Given the description of an element on the screen output the (x, y) to click on. 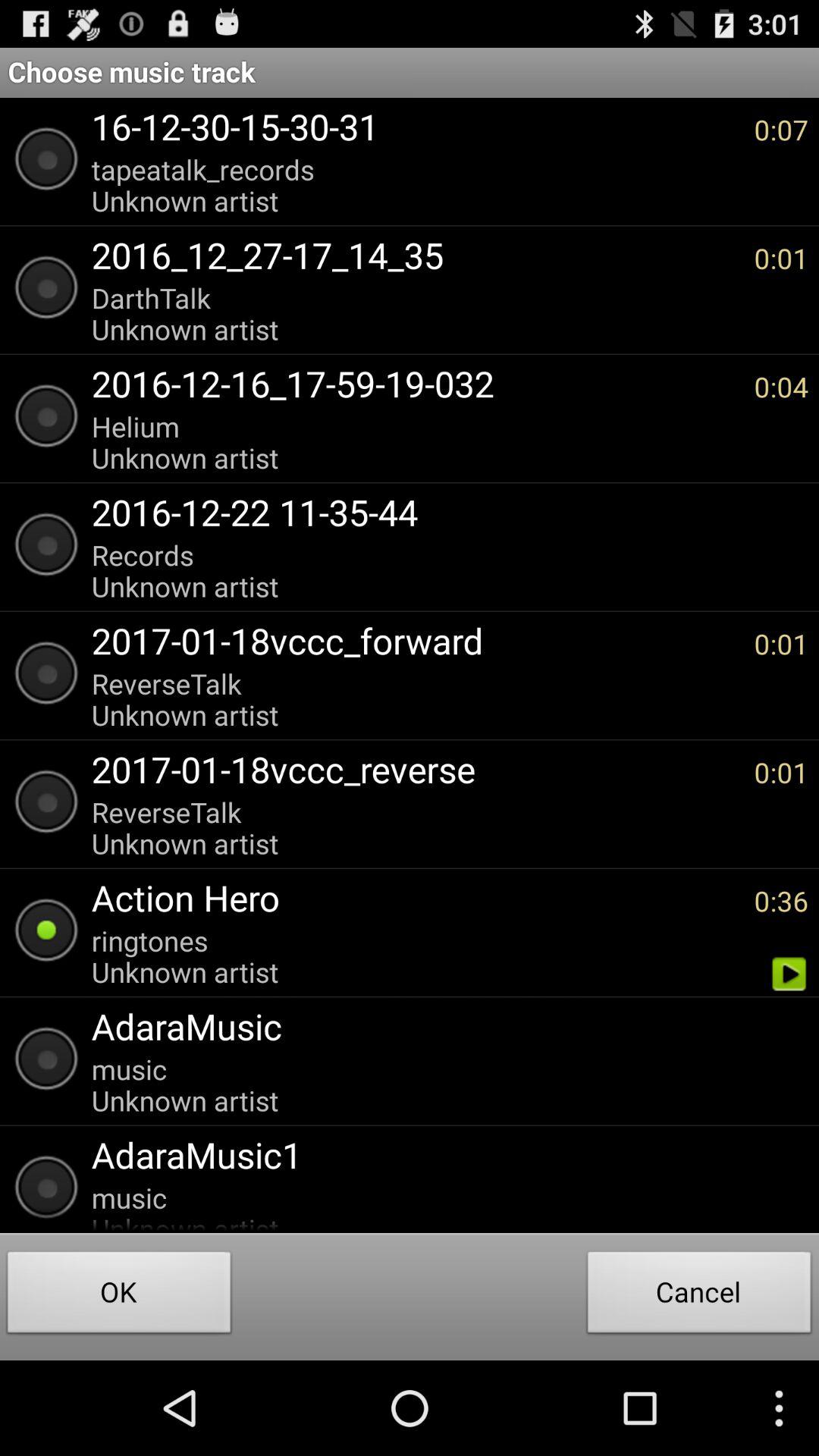
jump until the ok icon (119, 1296)
